Given the description of an element on the screen output the (x, y) to click on. 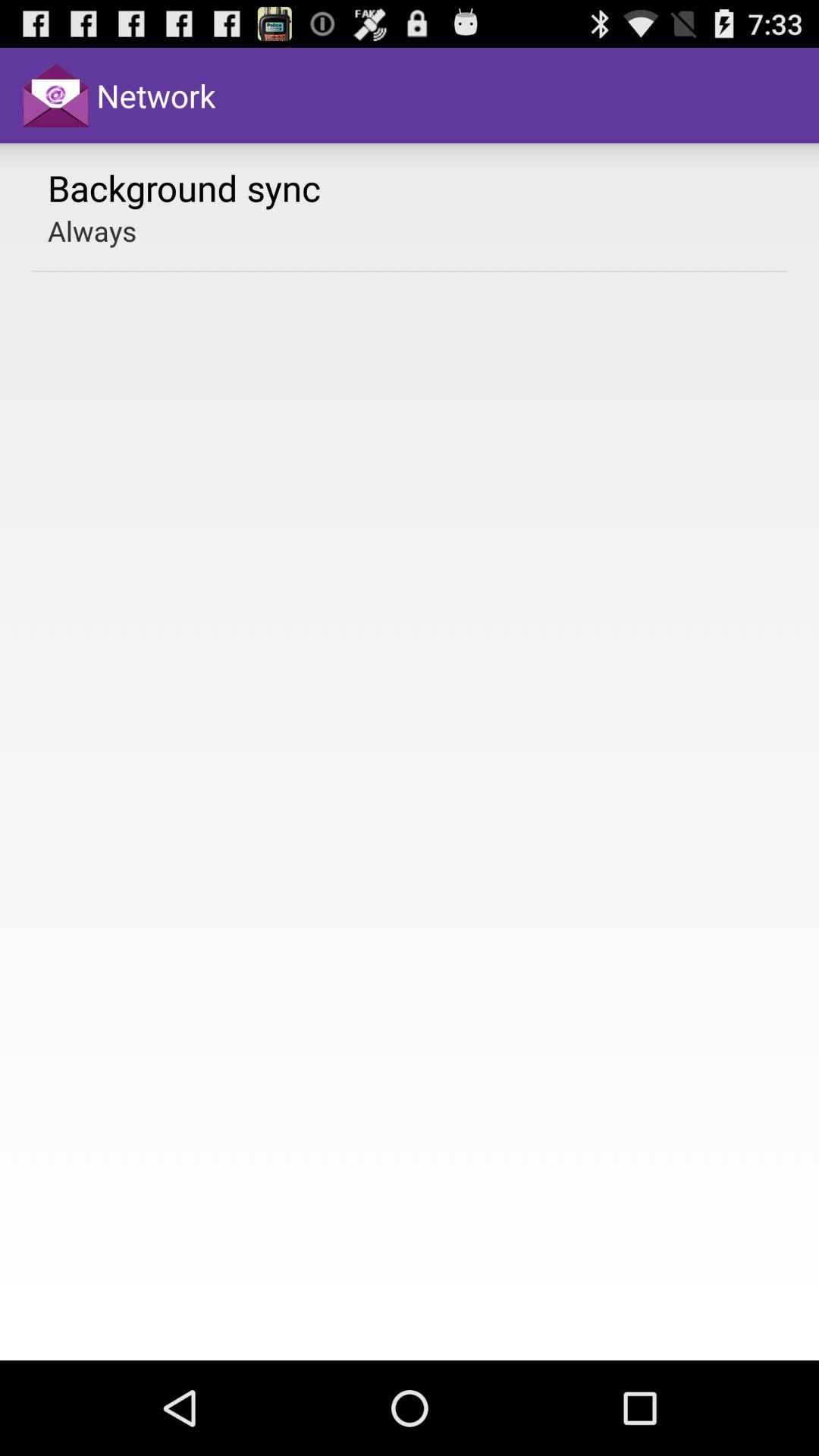
launch the app above the always (183, 187)
